Given the description of an element on the screen output the (x, y) to click on. 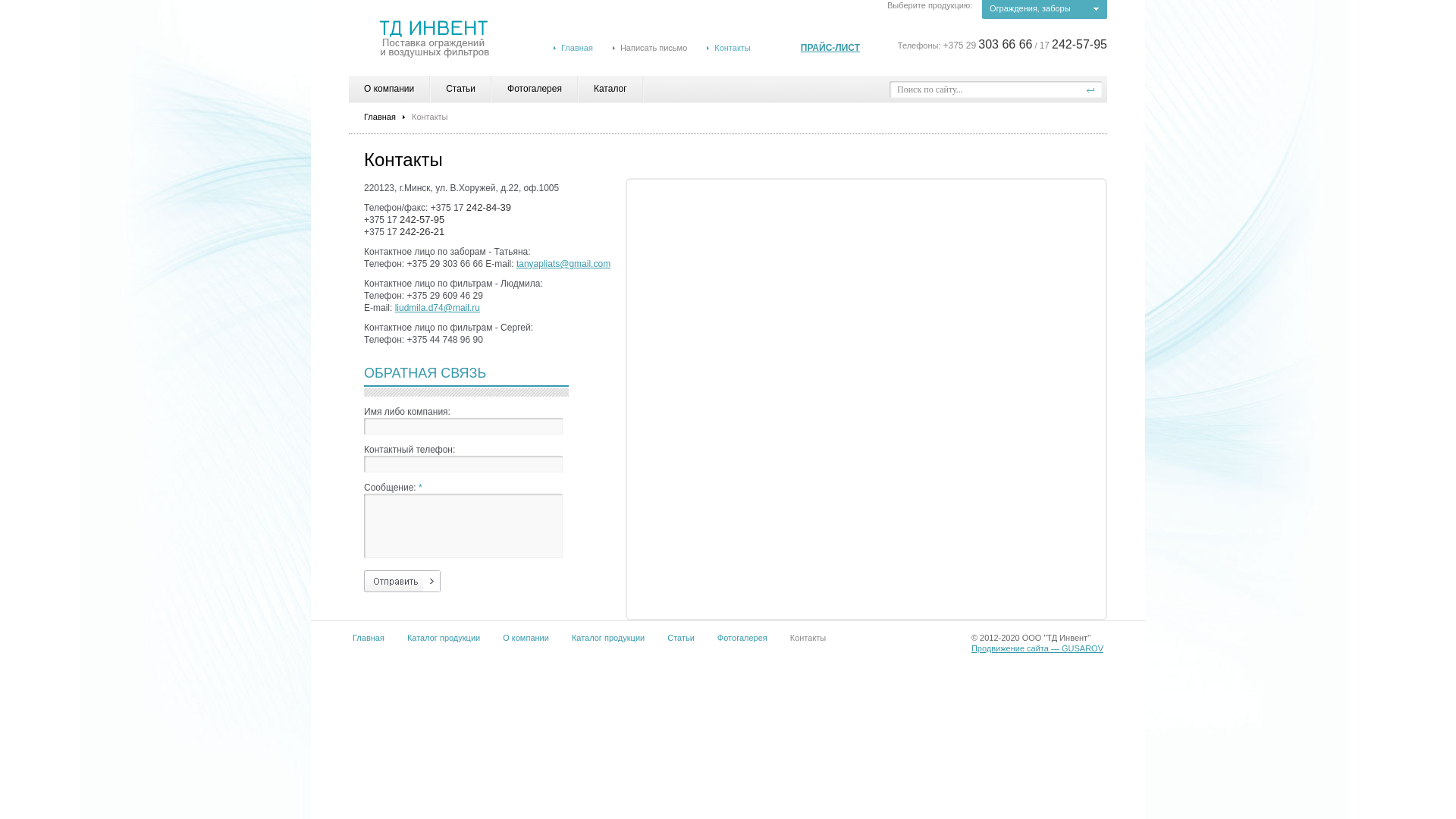
tanyapliats@gmail.com Element type: text (563, 263)
liudmila.d74@mail.ru Element type: text (437, 307)
